Given the description of an element on the screen output the (x, y) to click on. 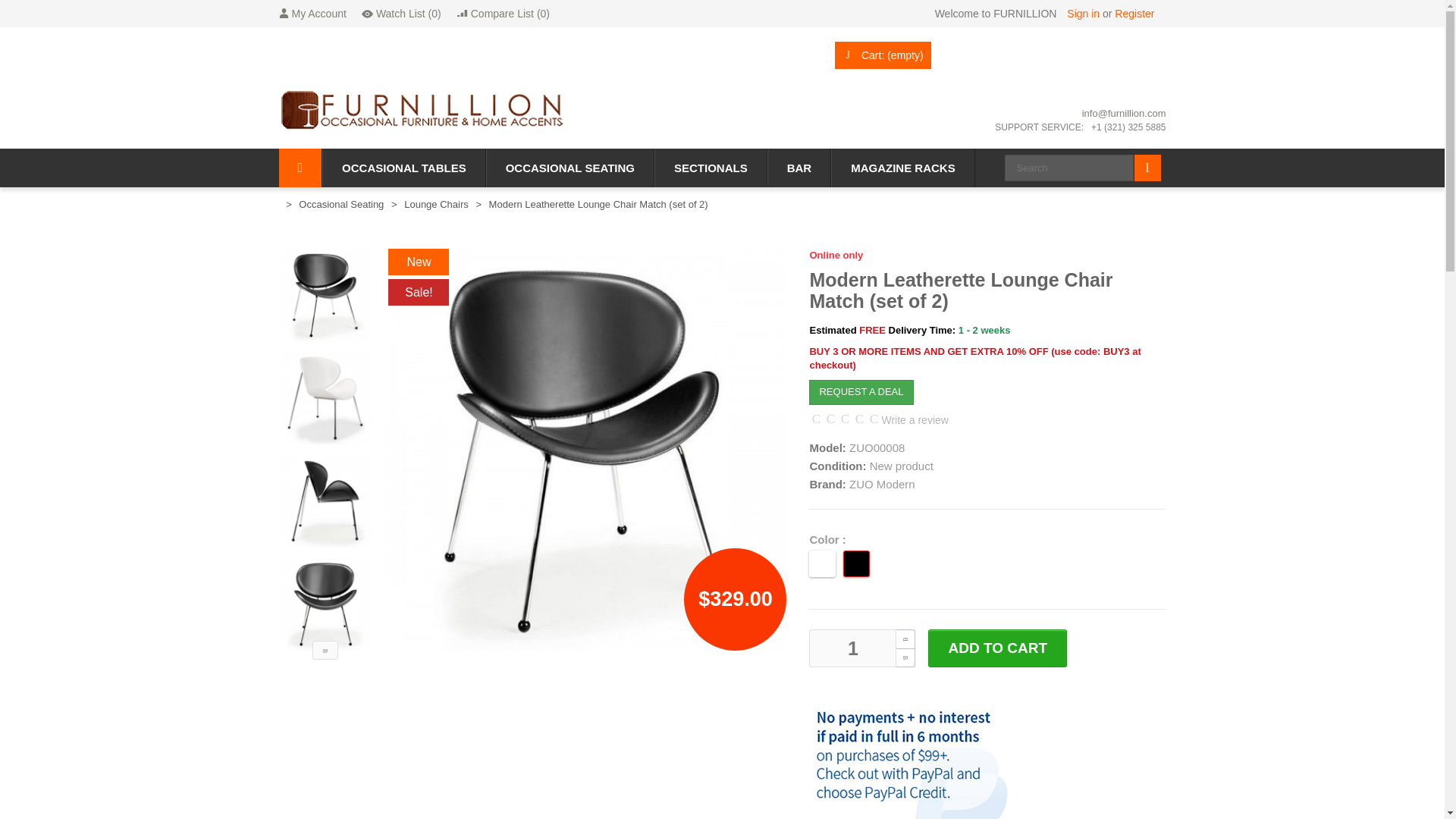
OCCASIONAL TABLES (403, 167)
Compare List (503, 13)
View my shopping cart (882, 54)
Sign in (1084, 13)
Occasional Seating (341, 204)
1 (852, 648)
My Account (312, 13)
SECTIONALS (711, 167)
HOME (300, 167)
Recently viewed products (401, 13)
Register (1134, 13)
BAR (799, 167)
FURNILLION (424, 109)
Lounge Chairs (436, 204)
